Given the description of an element on the screen output the (x, y) to click on. 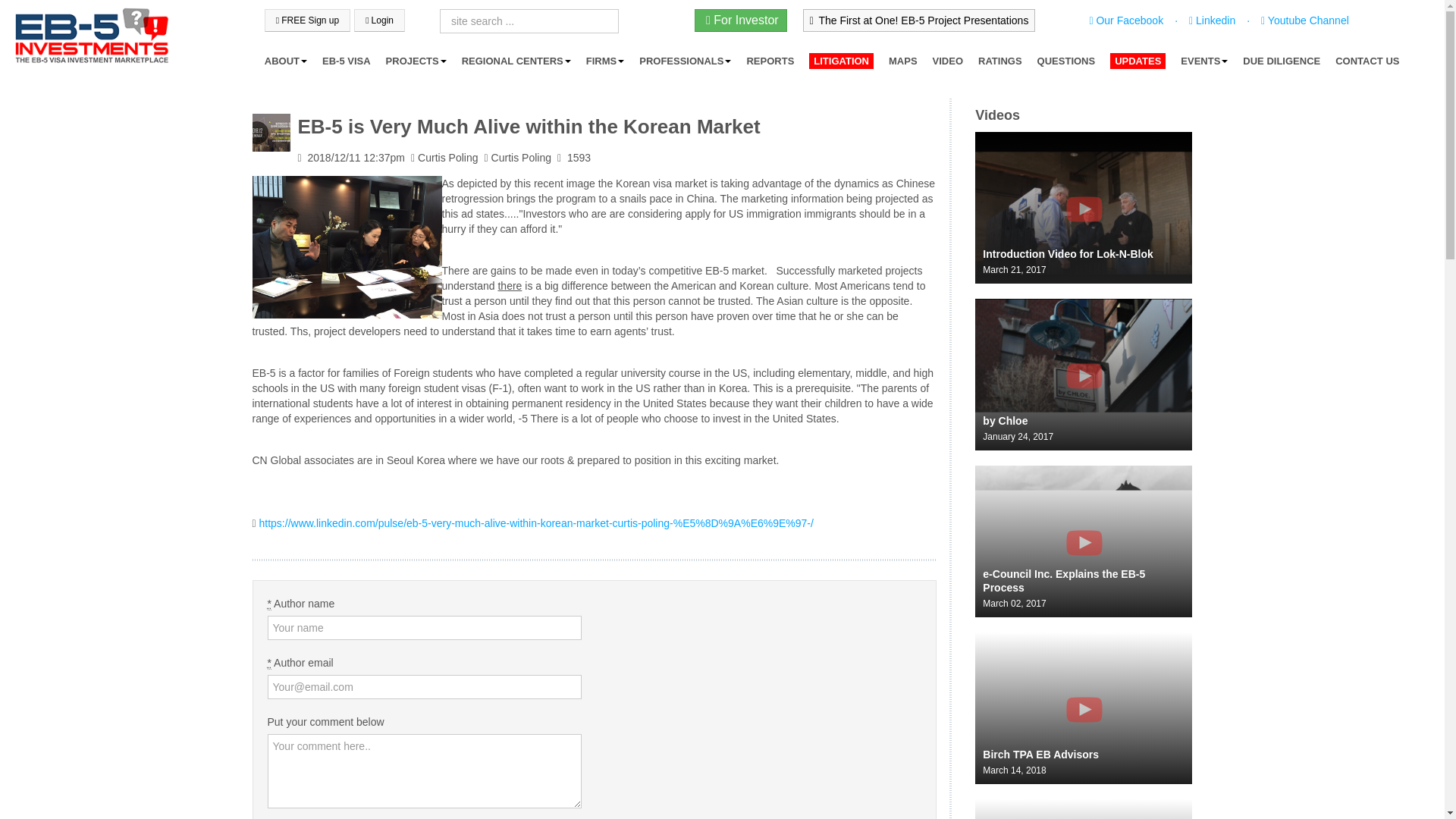
EB5Projects.com (91, 35)
EVENTS (1203, 60)
DUE DILIGENCE (1280, 60)
Youtube Channel (1302, 20)
For Investor (740, 20)
Linkedin (1210, 20)
MAPS (902, 60)
Login (378, 20)
RATINGS (1000, 60)
QUESTIONS (1066, 60)
